Given the description of an element on the screen output the (x, y) to click on. 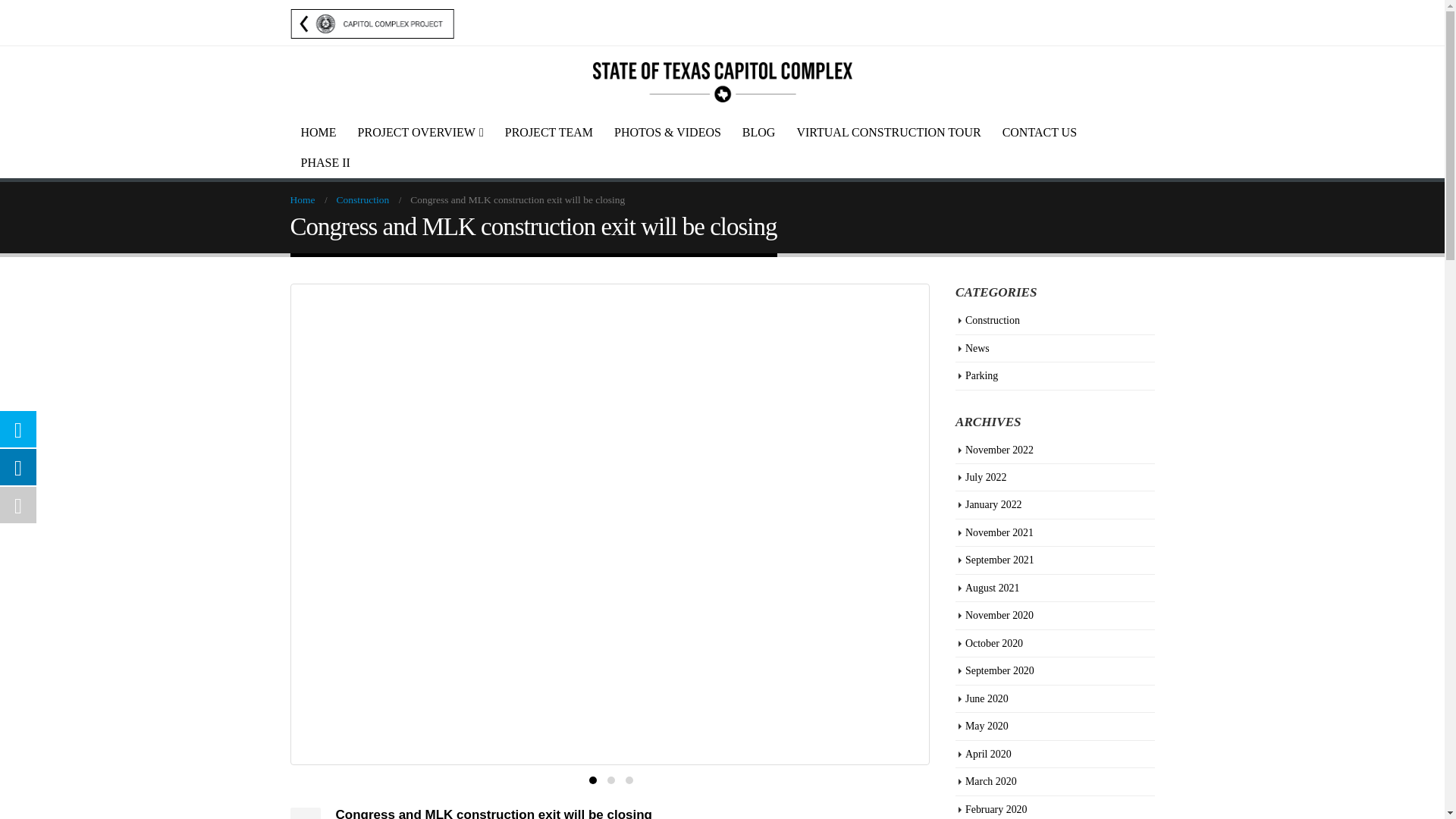
CONTACT US (1039, 132)
Construction (363, 199)
BLOG (759, 132)
Go to Home Page (301, 199)
Home (301, 199)
PHASE II (325, 163)
VIRTUAL CONSTRUCTION TOUR (888, 132)
HOME (318, 132)
PROJECT OVERVIEW (420, 132)
